Given the description of an element on the screen output the (x, y) to click on. 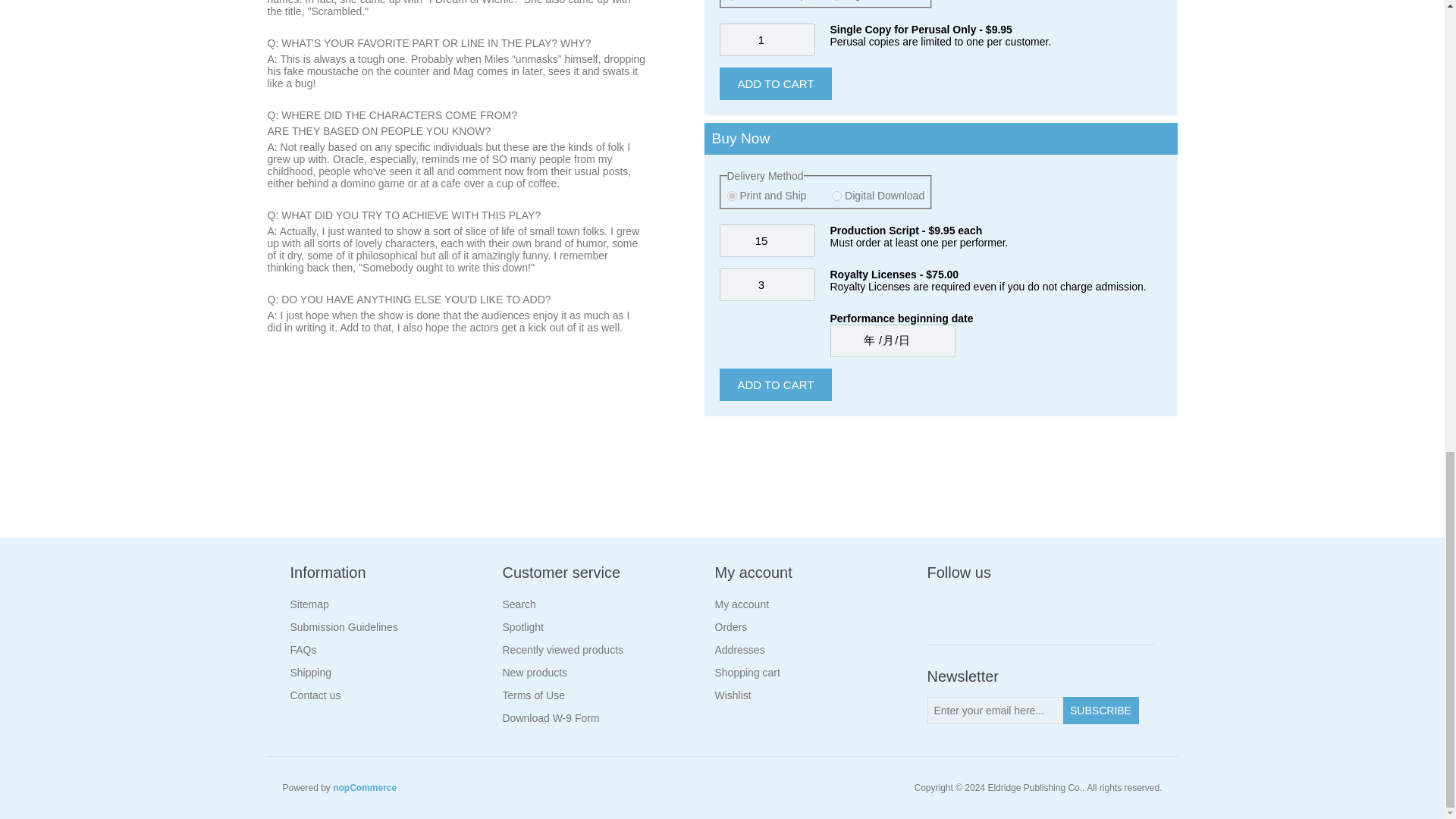
1 (766, 39)
false (731, 195)
true (836, 195)
Subscribe (1100, 709)
Add to Cart (775, 384)
15 (766, 240)
Add to cart (775, 83)
3 (766, 284)
